Given the description of an element on the screen output the (x, y) to click on. 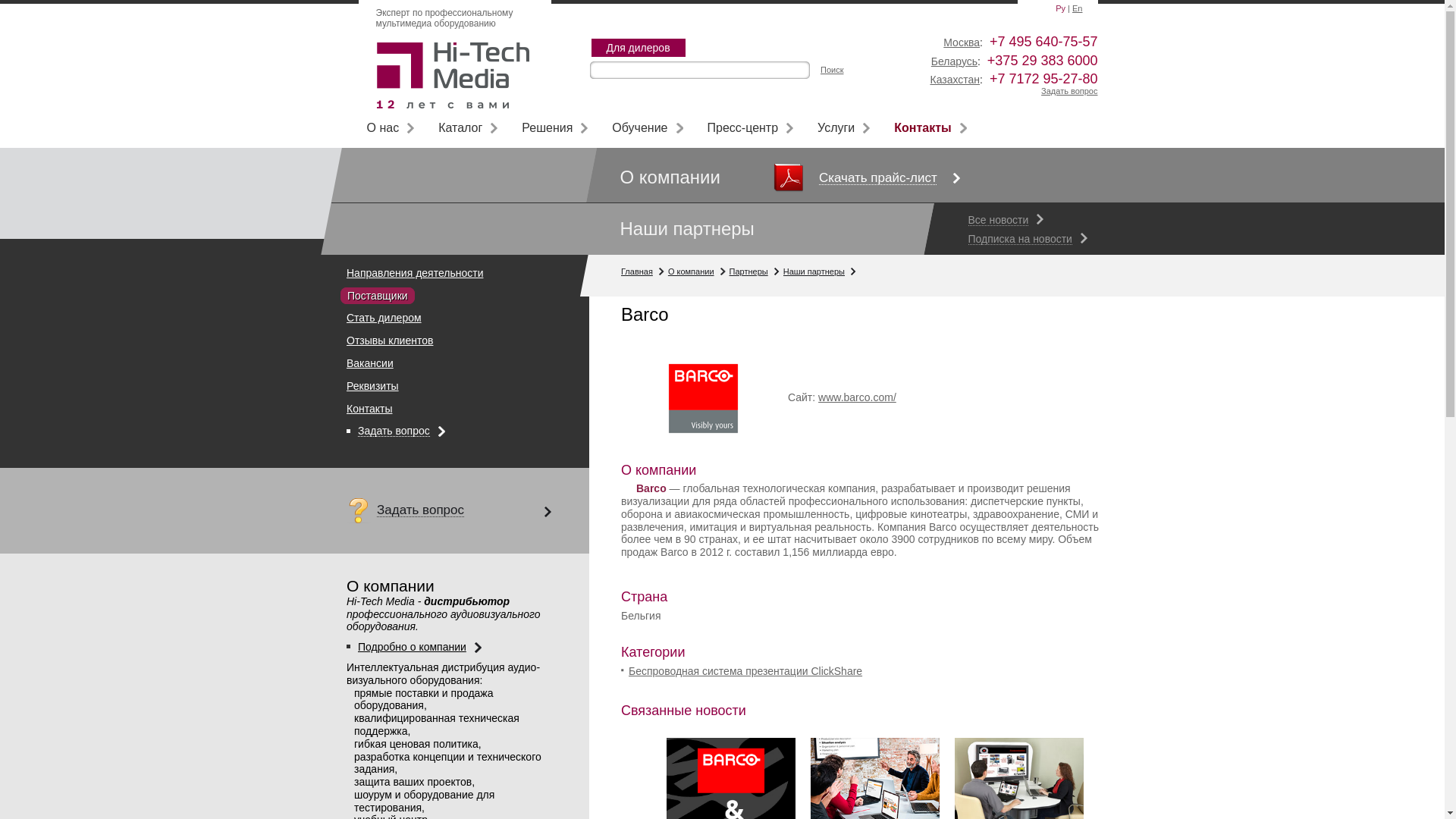
+7 7172 95-27-80 Element type: text (1043, 78)
www.barco.com/ Element type: text (857, 397)
+7 495 640-75-57 Element type: text (1043, 41)
En Element type: text (1077, 7)
+375 29 383 6000 Element type: text (1042, 60)
